Given the description of an element on the screen output the (x, y) to click on. 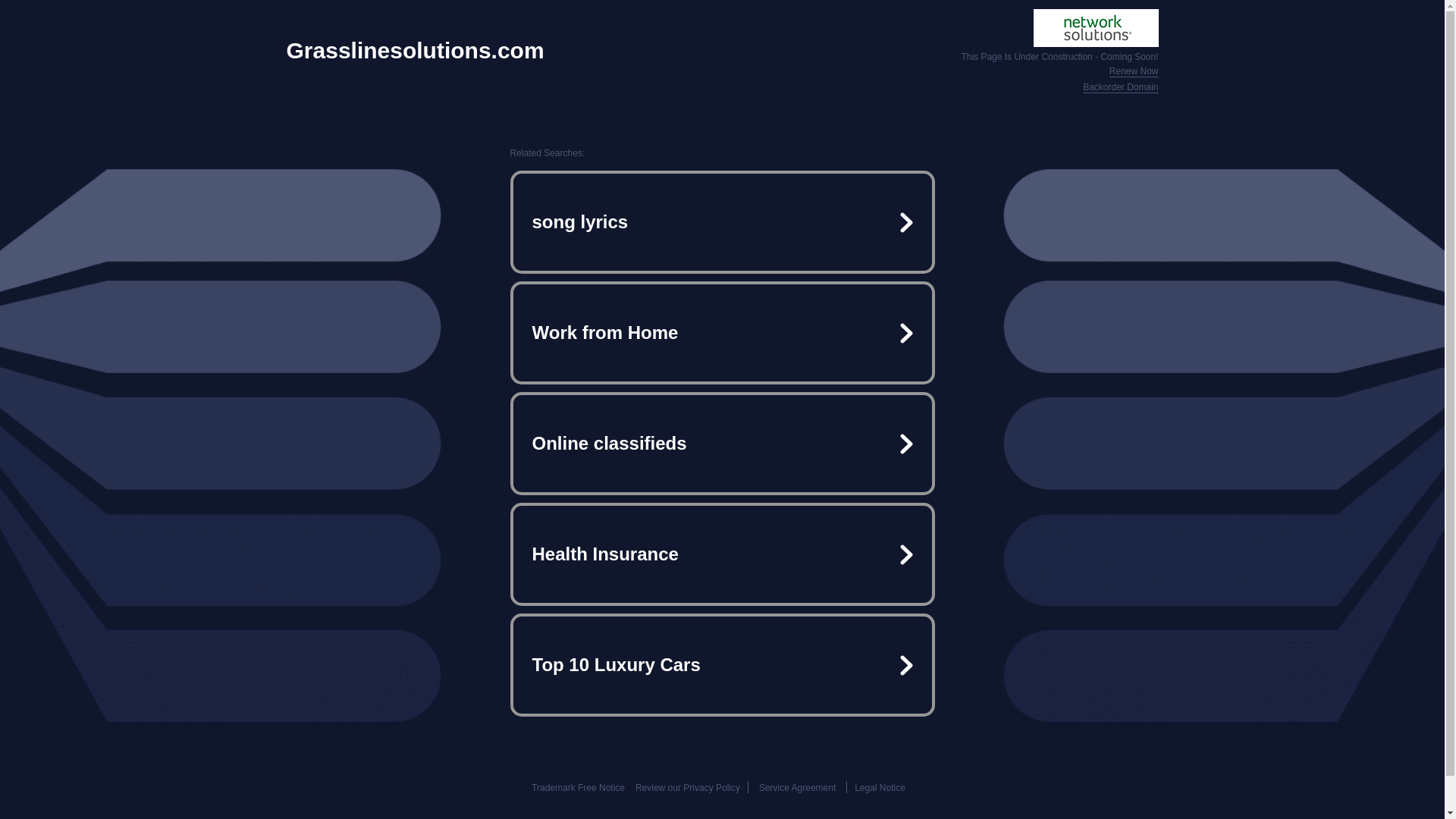
Grasslinesolutions.com (415, 50)
Health Insurance (721, 554)
Renew Now (1133, 71)
Online classifieds (721, 443)
Review our Privacy Policy (686, 787)
Backorder Domain (1120, 87)
Work from Home (721, 332)
Online classifieds (721, 443)
Service Agreement (796, 787)
Health Insurance (721, 554)
